Given the description of an element on the screen output the (x, y) to click on. 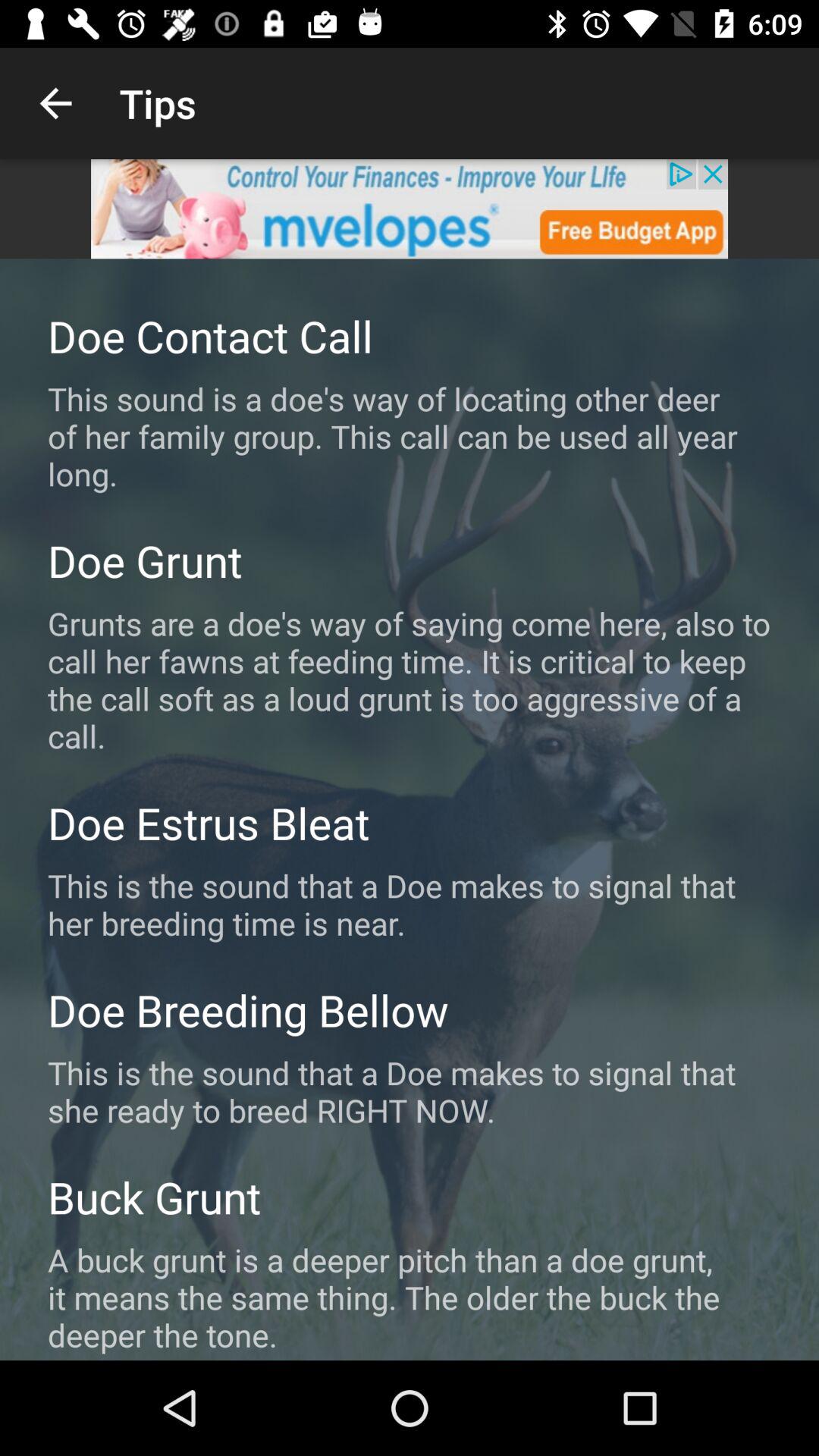
advertisement display (409, 208)
